Given the description of an element on the screen output the (x, y) to click on. 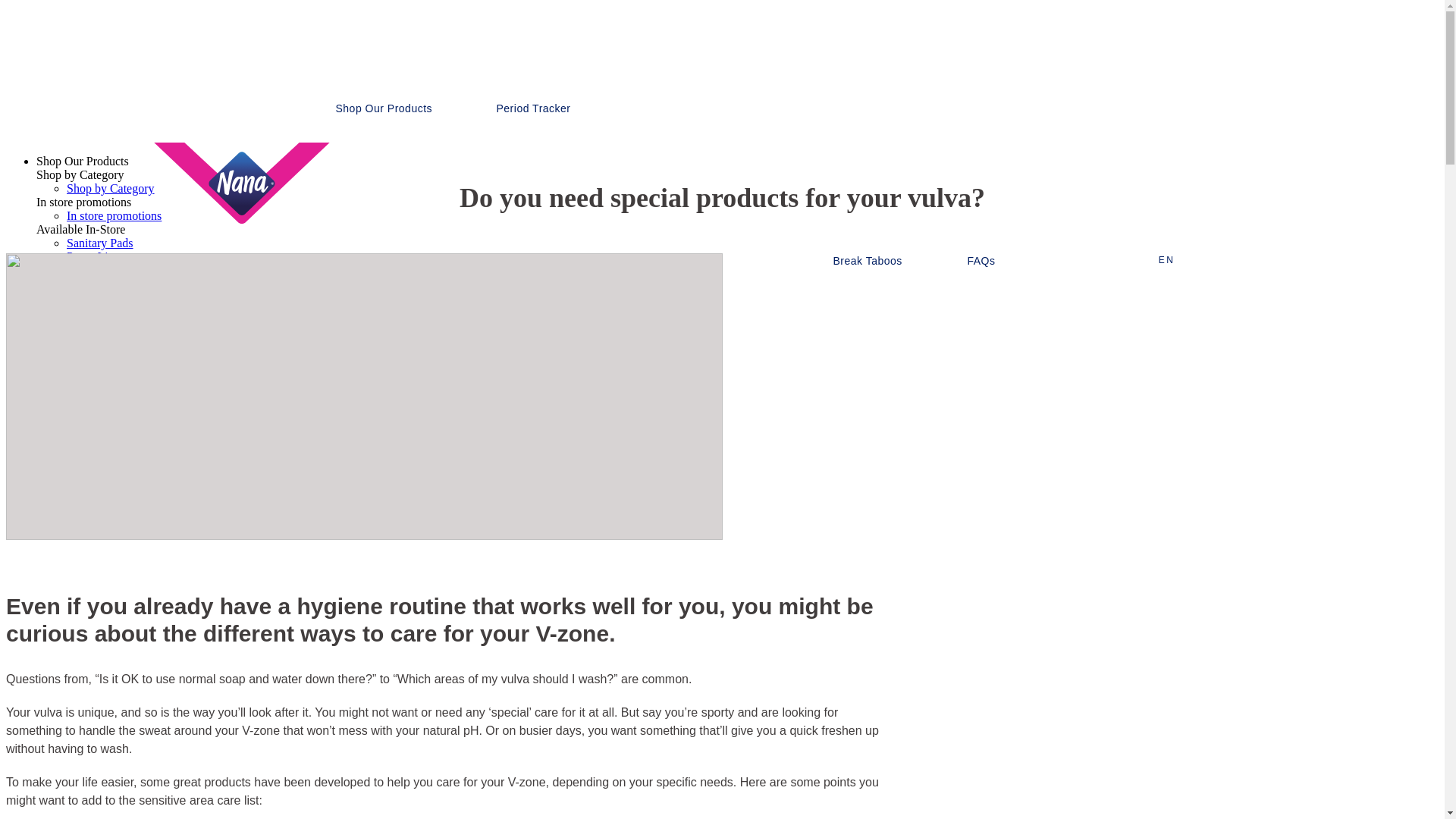
Sanitary Pads (99, 242)
Share your story (106, 338)
Puberty (85, 379)
Period Tracker (533, 108)
Period Problems (106, 406)
Shop by Category (110, 187)
Living with Periods (114, 392)
Project V (89, 324)
Panty Liners (97, 256)
View All (88, 269)
